Given the description of an element on the screen output the (x, y) to click on. 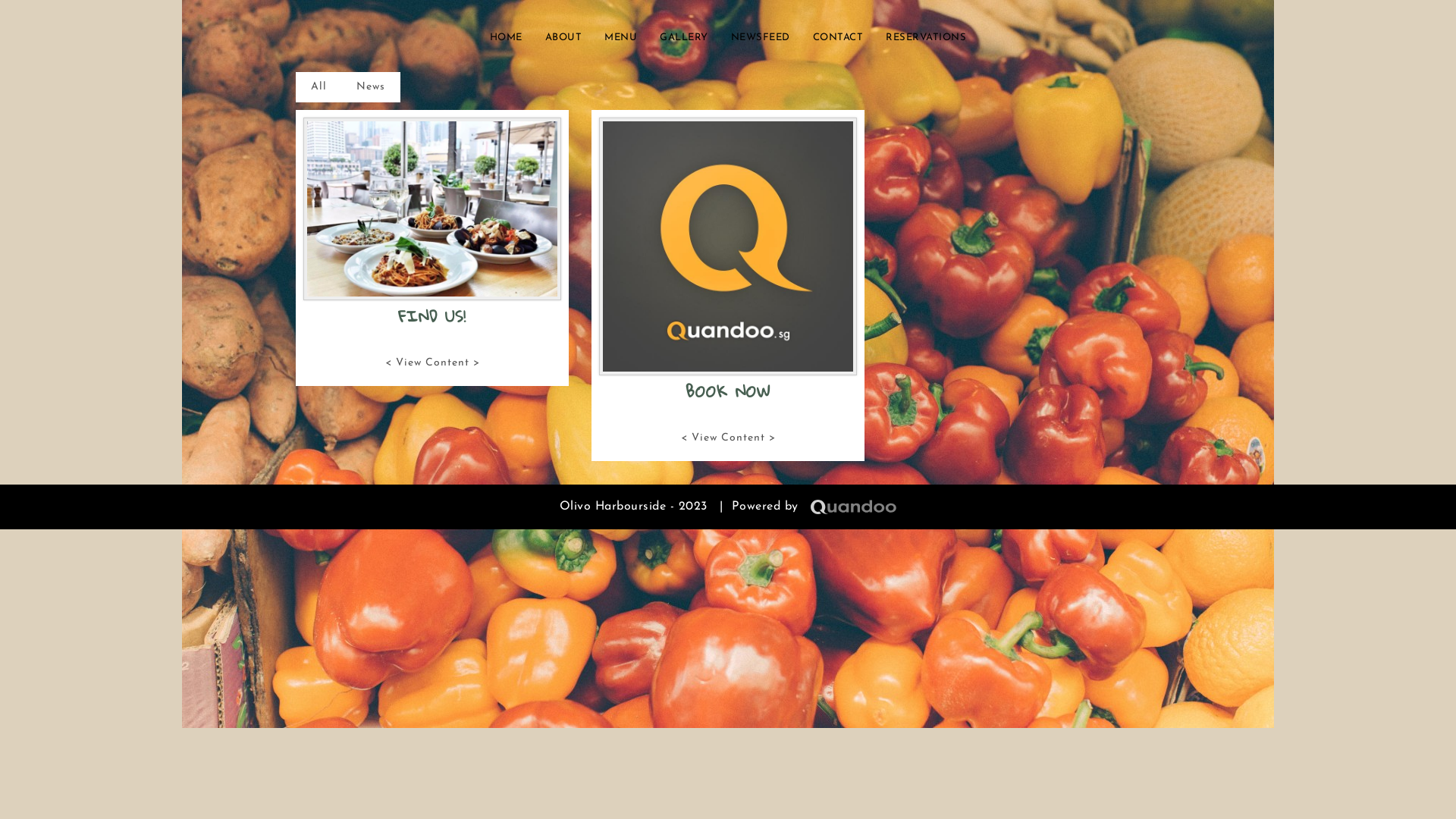
Find Us! Element type: hover (432, 208)
CONTACT Element type: text (838, 37)
Book Now Element type: hover (727, 246)
BOOK NOW Element type: text (727, 390)
< View Content > Element type: text (727, 438)
All Element type: text (318, 87)
NEWSFEED Element type: text (760, 37)
HOME Element type: text (505, 37)
GALLERY Element type: text (683, 37)
FIND US! Element type: text (432, 315)
< View Content > Element type: text (432, 363)
RESERVATIONS Element type: text (925, 37)
MENU Element type: text (620, 37)
ABOUT Element type: text (563, 37)
News Element type: text (370, 87)
